Given the description of an element on the screen output the (x, y) to click on. 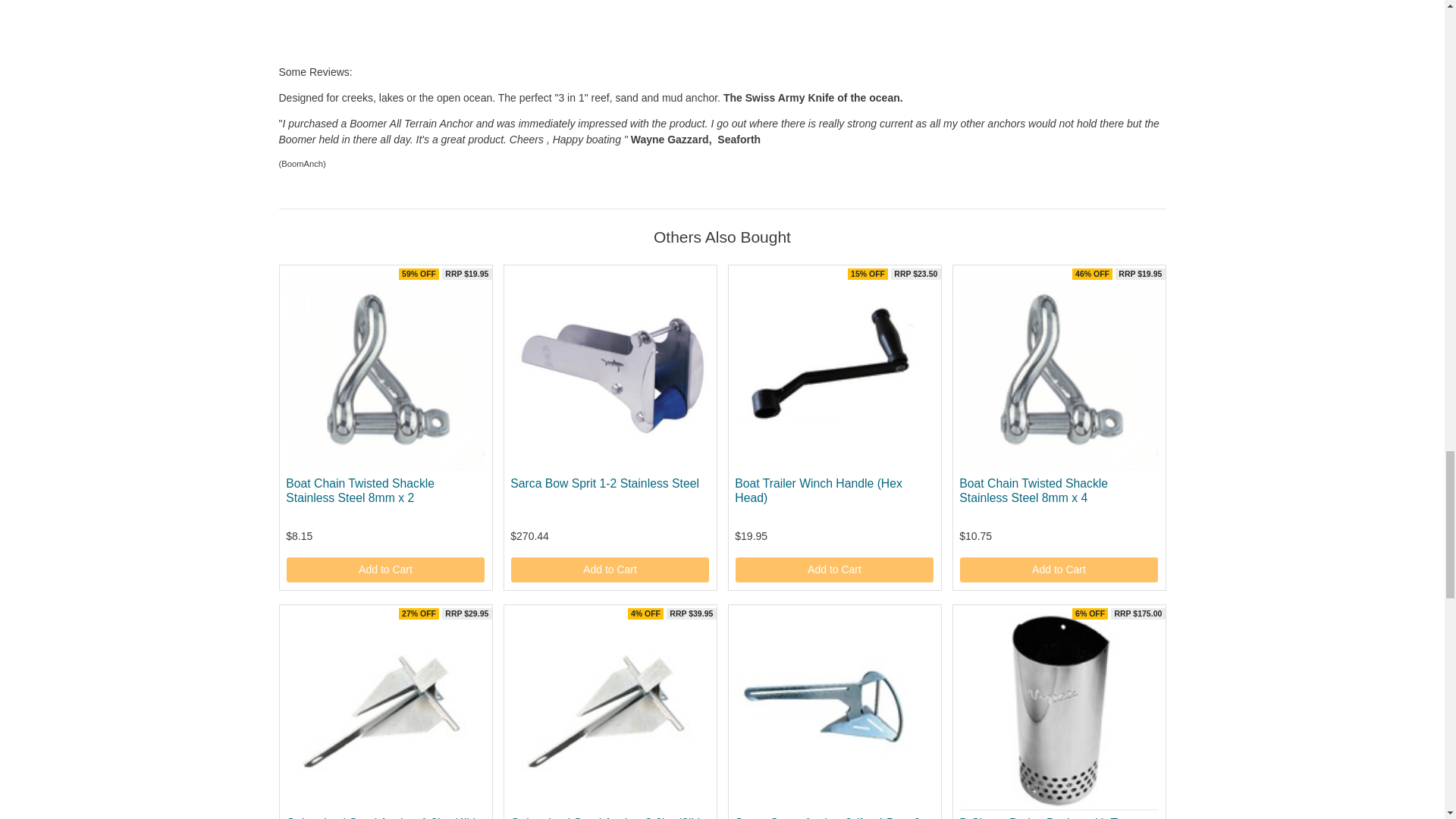
Add Sarca Bow Sprit 1-2 Stainless Steel to Cart (610, 569)
YouTube video player (491, 29)
